Given the description of an element on the screen output the (x, y) to click on. 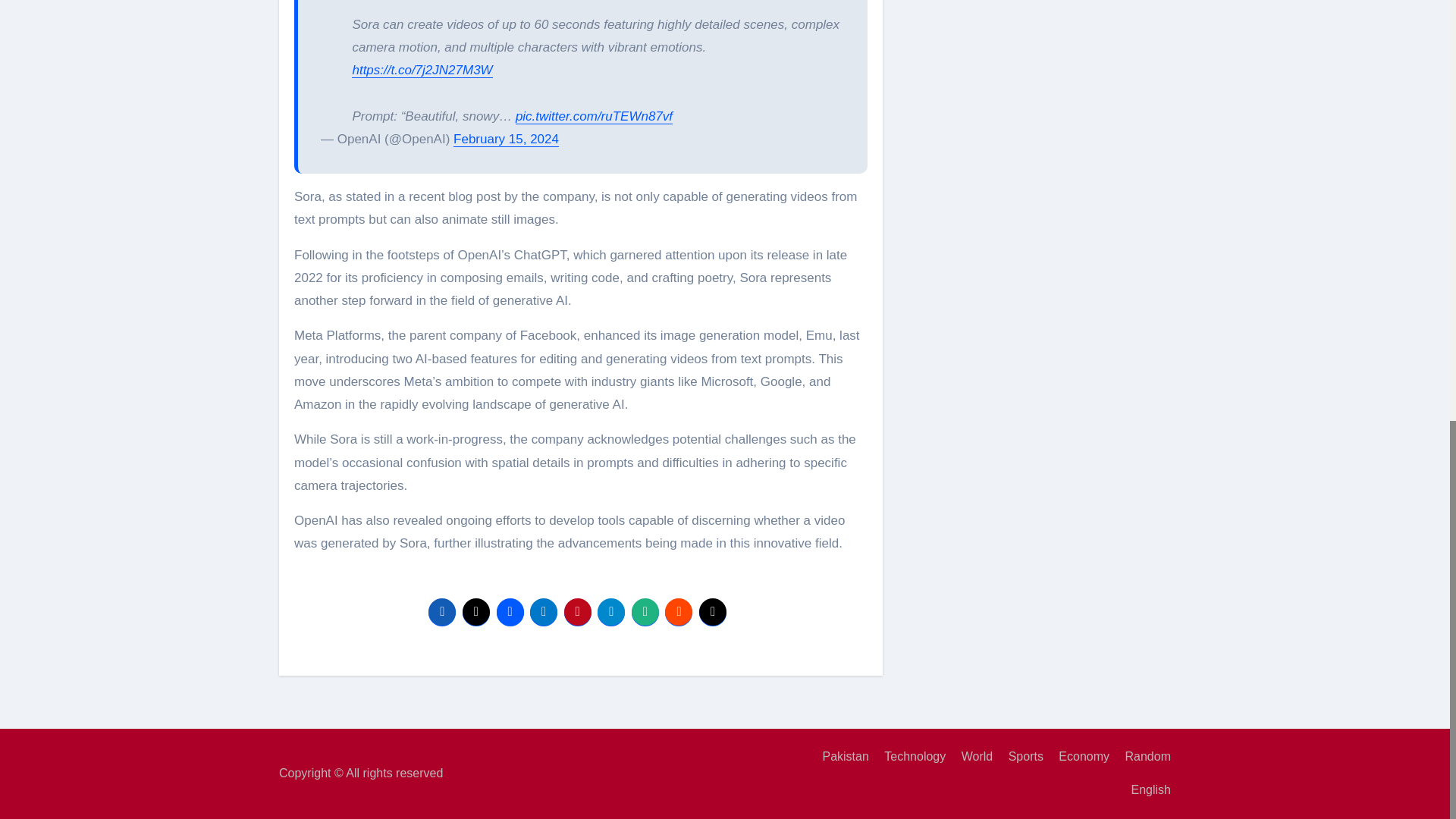
Sports (1019, 756)
Technology (908, 756)
Pakistan (838, 756)
Technology (908, 756)
February 15, 2024 (505, 138)
Pakistan (838, 756)
World (970, 756)
